Given the description of an element on the screen output the (x, y) to click on. 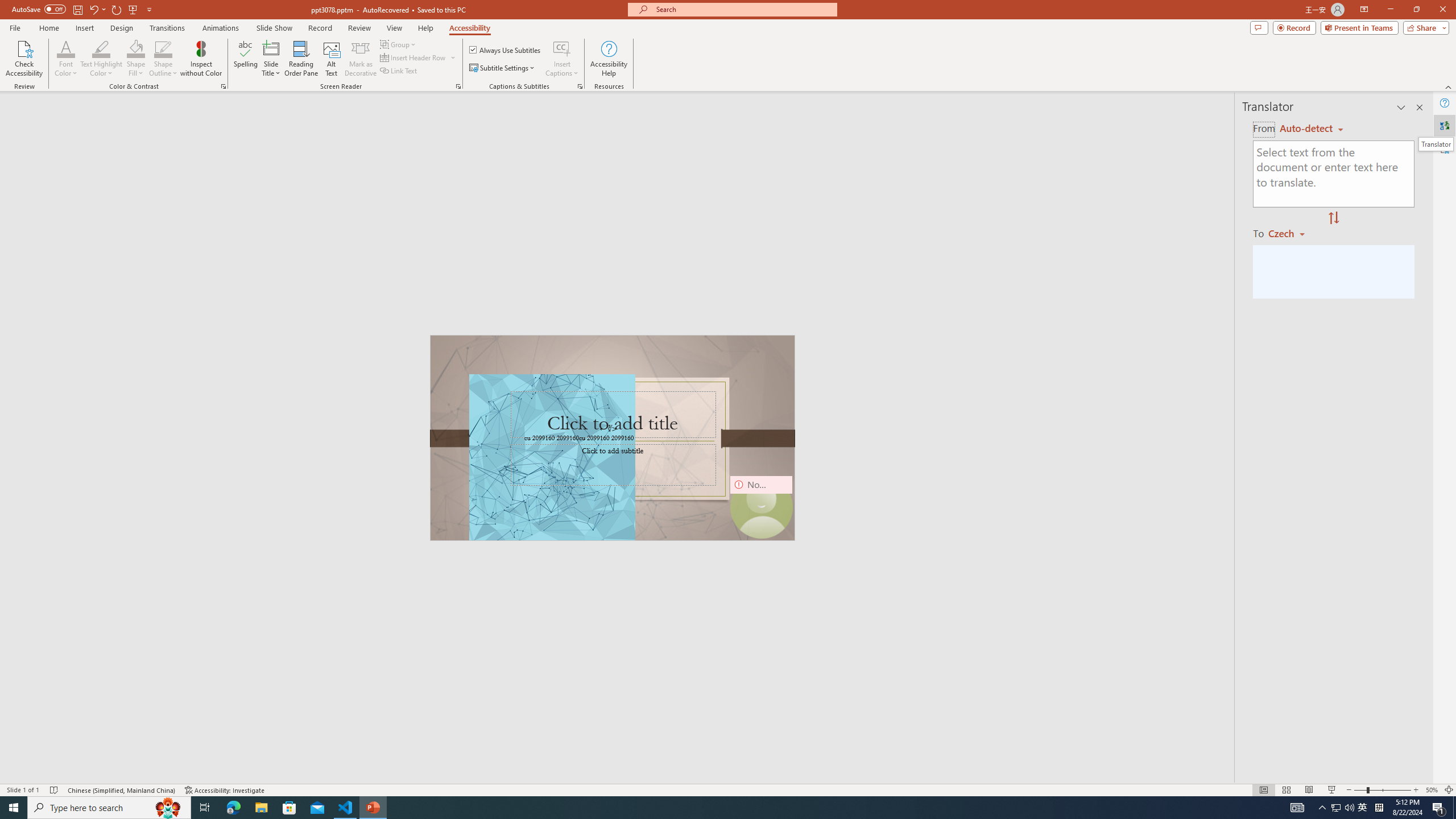
Slide Title (271, 48)
Color & Contrast (223, 85)
Camera 9, No camera detected. (761, 506)
Swap "from" and "to" languages. (1333, 218)
Shape Outline (163, 48)
Insert Captions (561, 58)
Group (398, 44)
Check Accessibility (23, 58)
